Given the description of an element on the screen output the (x, y) to click on. 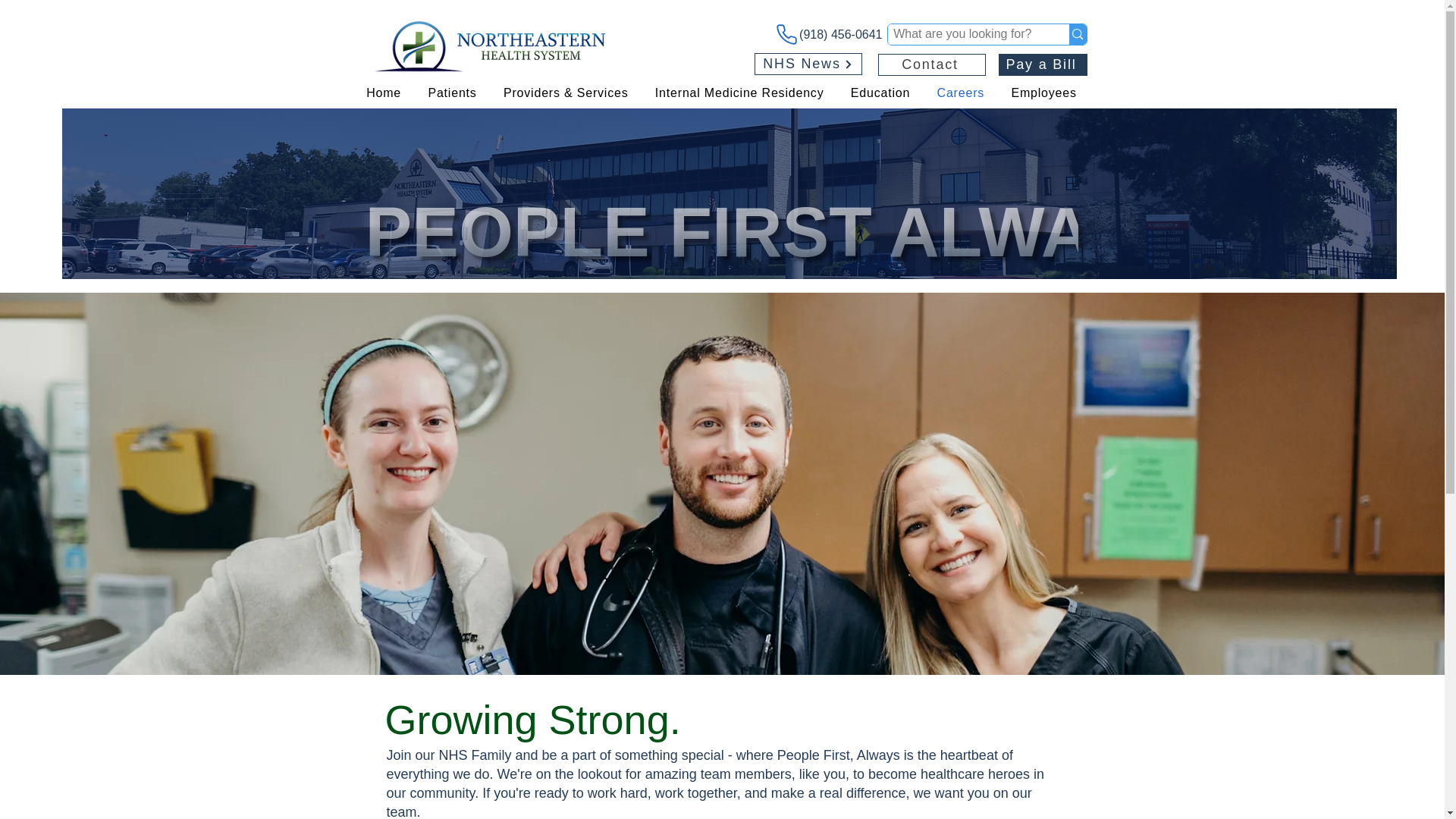
Education (880, 92)
Employees (1044, 92)
Pay a Bill (1041, 65)
Patients (452, 92)
Careers (721, 240)
Contact (960, 92)
NHS Logo Wide.png (931, 65)
Home (492, 45)
